Given the description of an element on the screen output the (x, y) to click on. 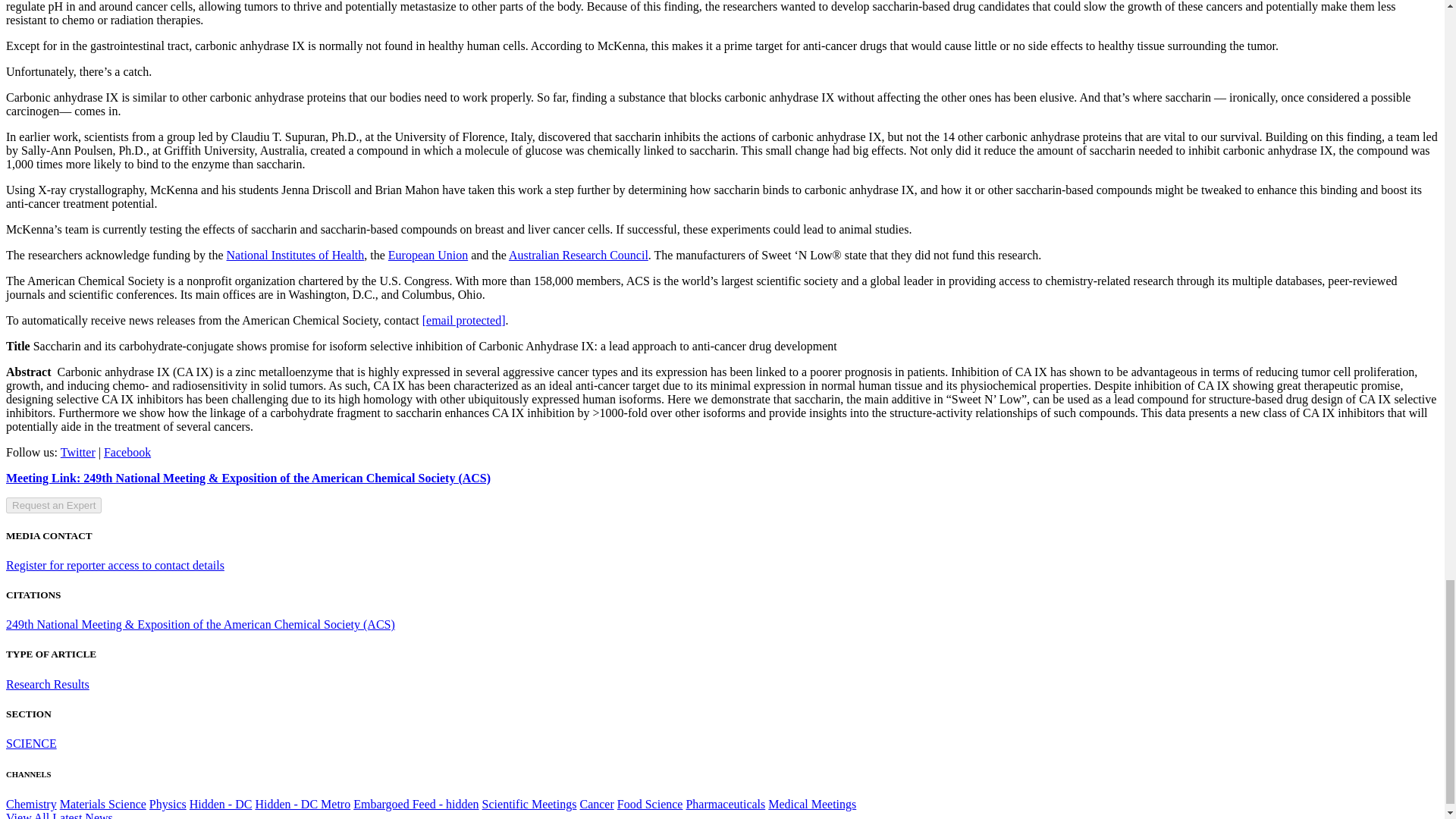
Research Results (46, 684)
Show all articles in this channel (30, 743)
Show all articles in this channel (30, 803)
Show all articles in this channel (167, 803)
Show all articles in this channel (103, 803)
